Given the description of an element on the screen output the (x, y) to click on. 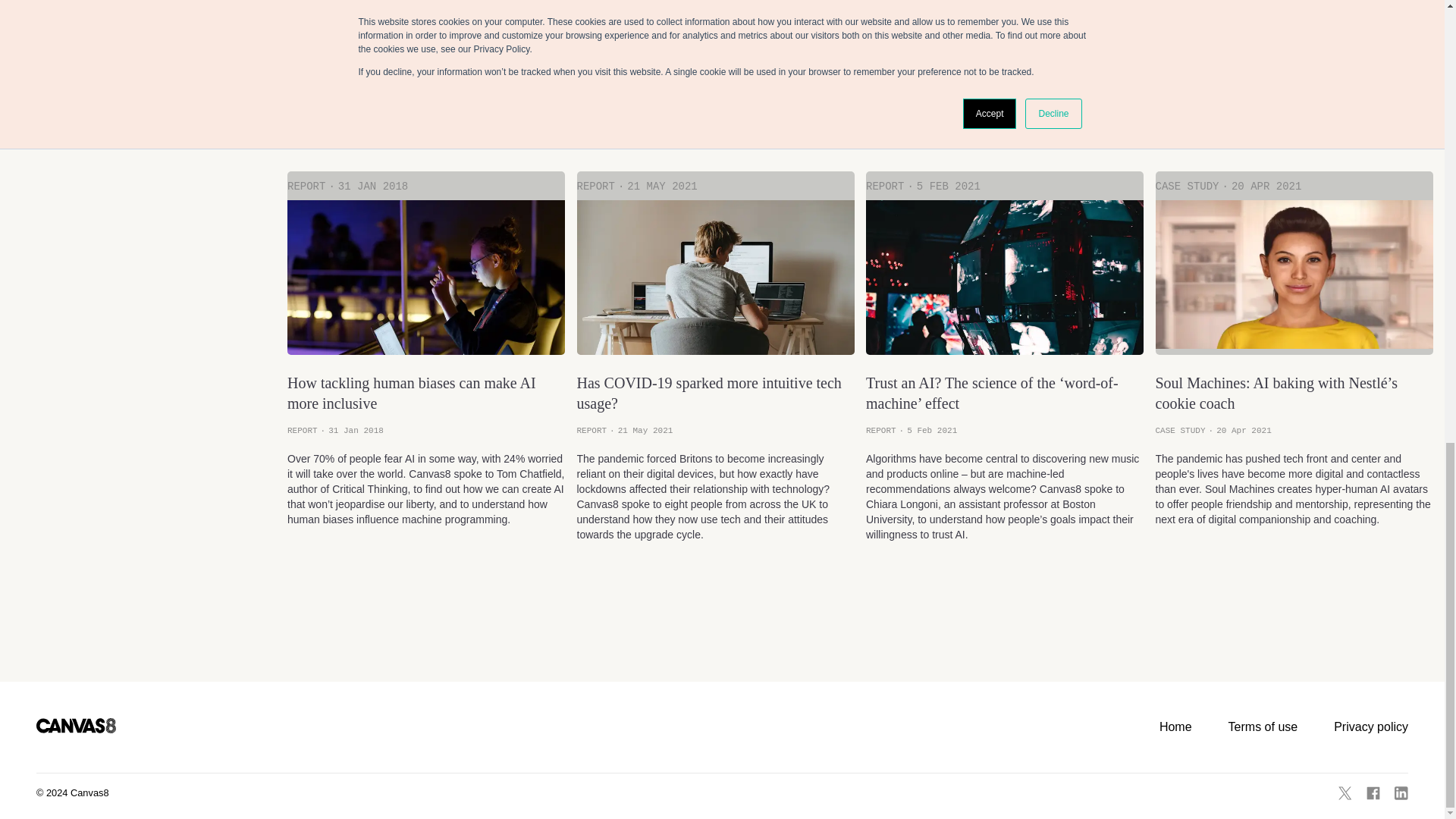
Has COVID-19 sparked more intuitive tech usage? (714, 393)
Twitter (1345, 793)
LinkedIn (1400, 793)
Facebook (1372, 792)
How tackling human biases can make AI more inclusive (425, 393)
